Given the description of an element on the screen output the (x, y) to click on. 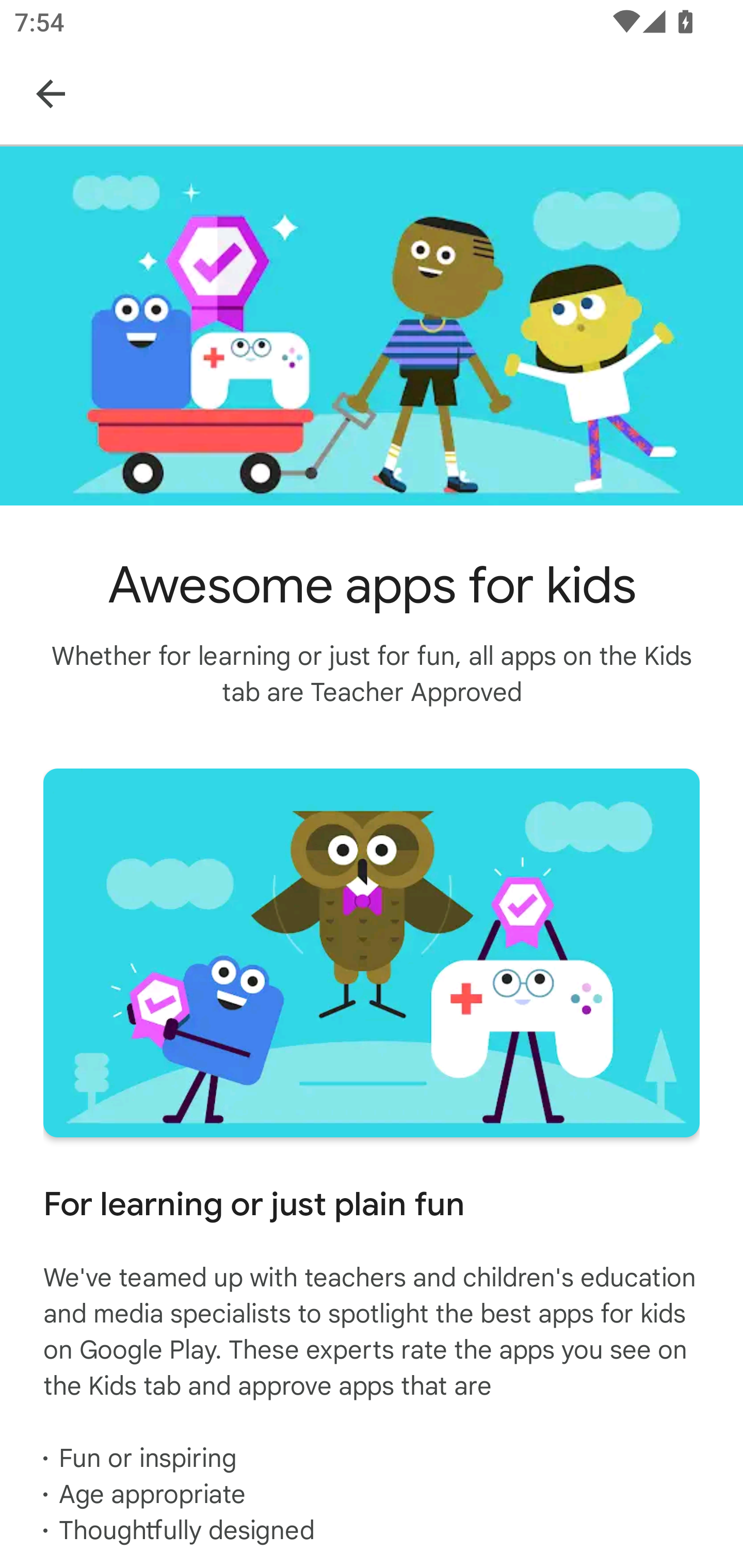
Navigate up (50, 92)
